Given the description of an element on the screen output the (x, y) to click on. 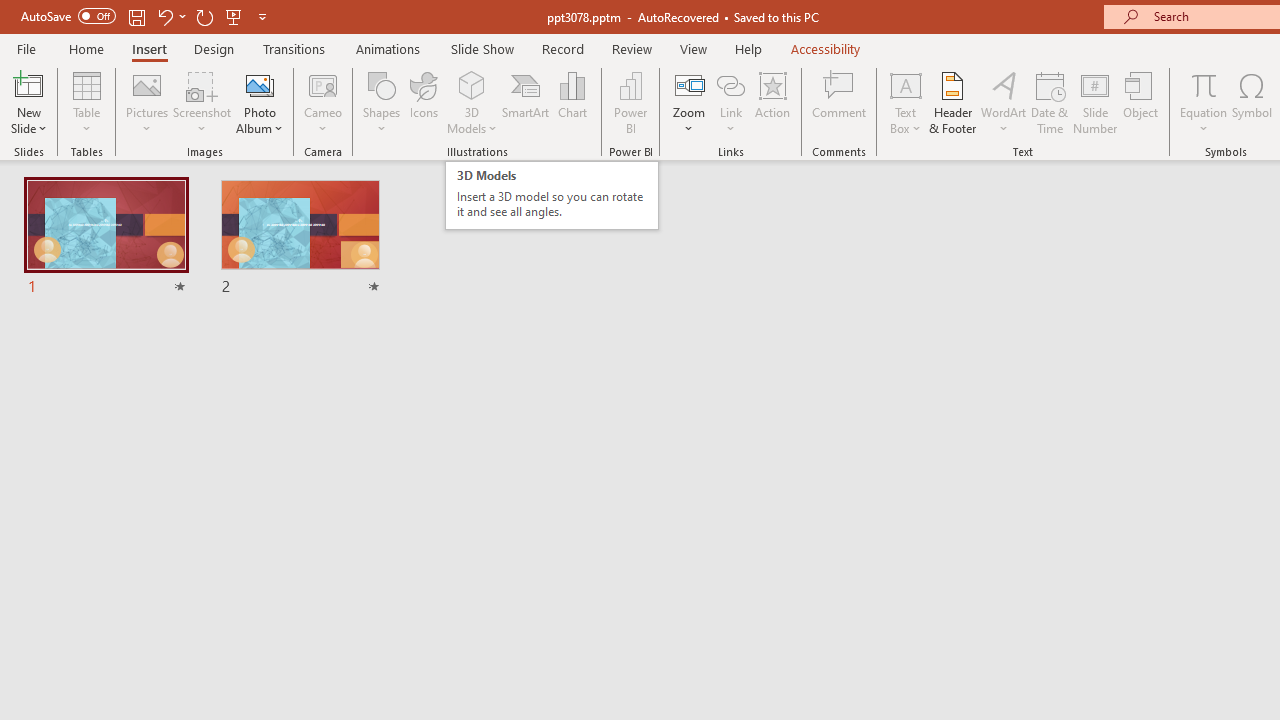
Table (86, 102)
3D Models (472, 102)
Icons (424, 102)
Symbol... (1252, 102)
Equation (1203, 102)
